Given the description of an element on the screen output the (x, y) to click on. 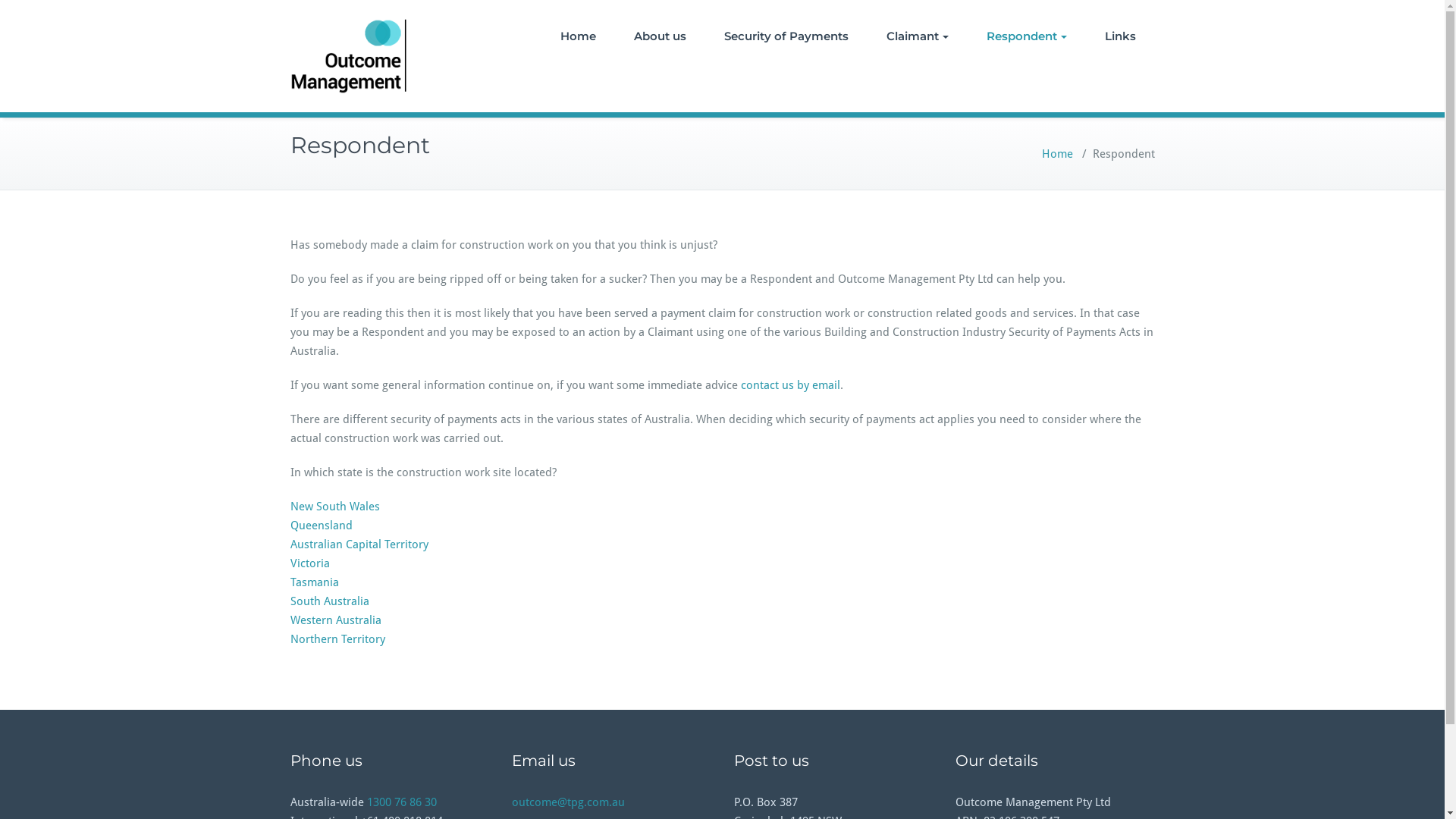
South Australia Element type: text (328, 601)
Security of Payments Element type: text (786, 36)
About us Element type: text (659, 36)
Links Element type: text (1119, 36)
Victoria Element type: text (309, 563)
Australian Capital Territory Element type: text (358, 544)
1300 76 86 30 Element type: text (401, 802)
Queensland Element type: text (320, 525)
Northern Territory Element type: text (336, 639)
Respondent Element type: text (1026, 36)
Home Element type: text (1057, 153)
Western Australia Element type: text (334, 620)
Claimant Element type: text (917, 36)
contact us by email Element type: text (789, 385)
Home Element type: text (578, 36)
Tasmania Element type: text (313, 582)
New South Wales Element type: text (334, 506)
outcome@tpg.com.au Element type: text (567, 802)
